Given the description of an element on the screen output the (x, y) to click on. 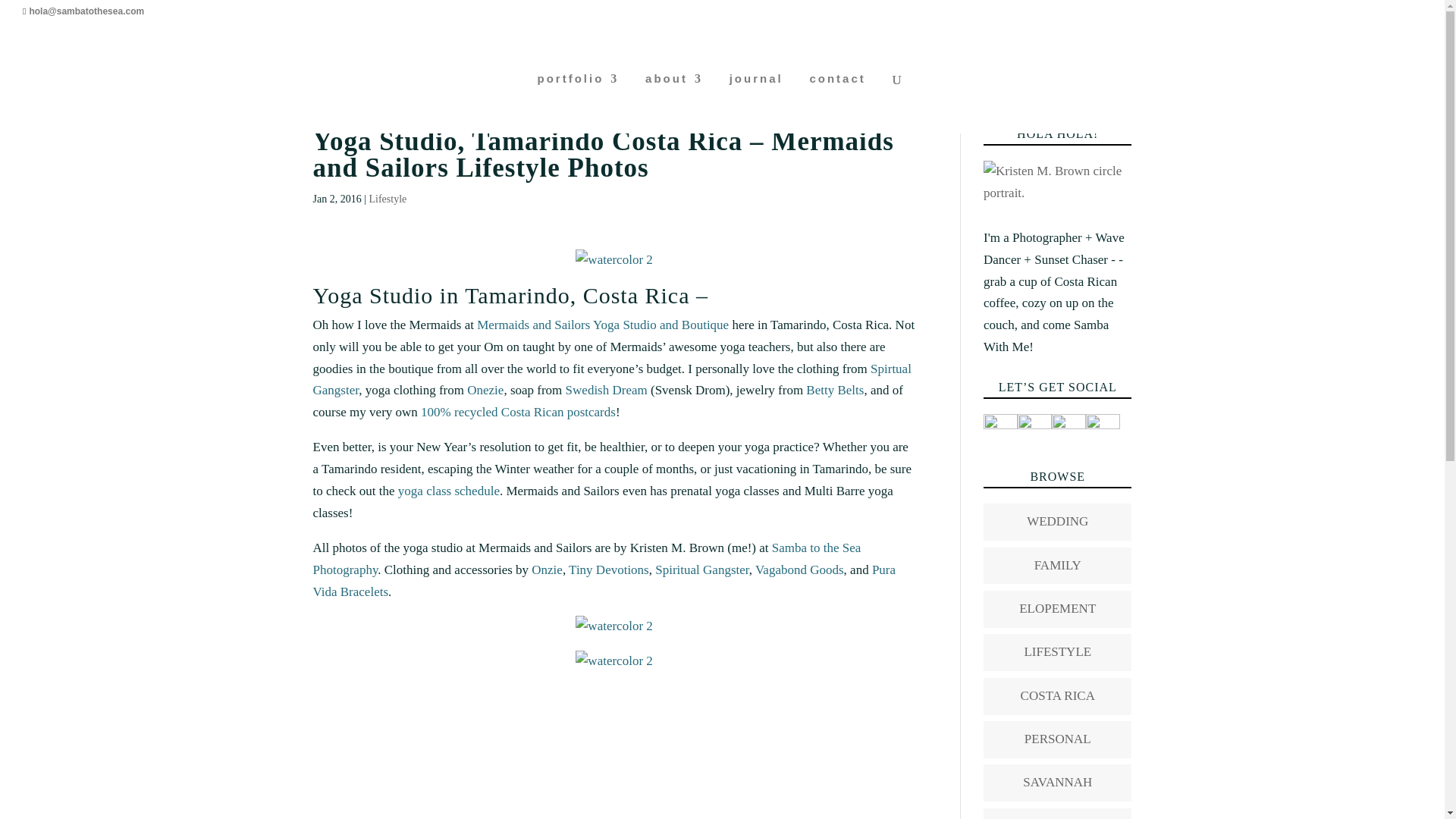
yoga class schedule (448, 490)
Onezie (485, 390)
Let's Get Social (1068, 430)
Swedish Dream (606, 390)
Let's Get Social (1034, 430)
Lifestyle (387, 198)
Email (1000, 430)
Spirtual Gangster (612, 379)
contact (836, 103)
Betty Belts (834, 390)
Vagabond Goods (799, 569)
about (674, 103)
Samba to the Sea Photography (586, 558)
Spiritual Gangster (702, 569)
Let's Get Social (1102, 430)
